Given the description of an element on the screen output the (x, y) to click on. 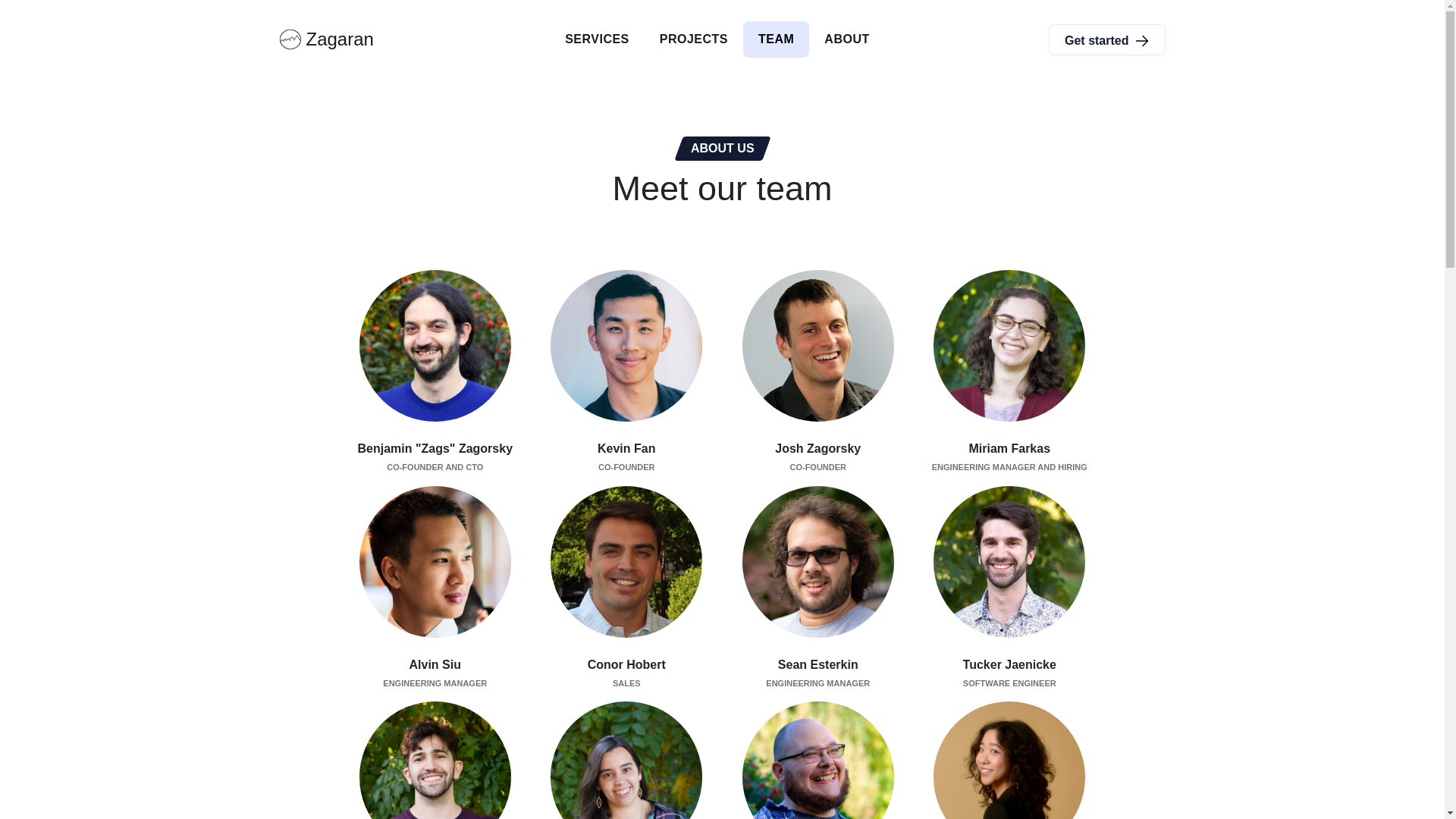
Zagaran (326, 39)
SERVICES (597, 39)
PROJECTS (693, 39)
ABOUT (846, 39)
Get started (1107, 39)
TEAM (775, 39)
